Given the description of an element on the screen output the (x, y) to click on. 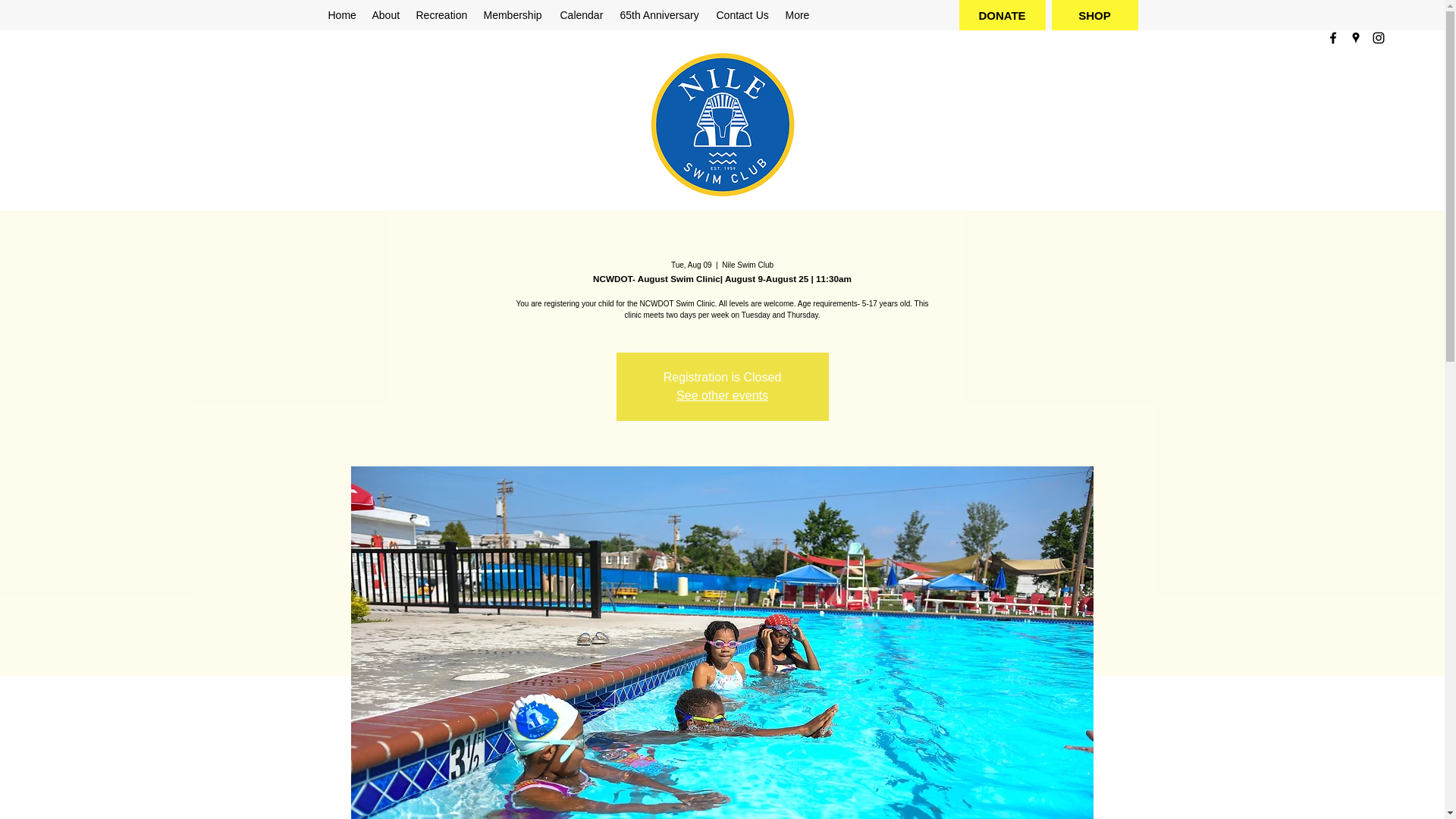
DONATE (1001, 15)
Membership (514, 15)
SHOP (1094, 15)
About (385, 15)
Contact Us (742, 15)
Recreation (441, 15)
Calendar (581, 15)
Home (342, 15)
See other events (722, 395)
65th Anniversary (660, 15)
